Given the description of an element on the screen output the (x, y) to click on. 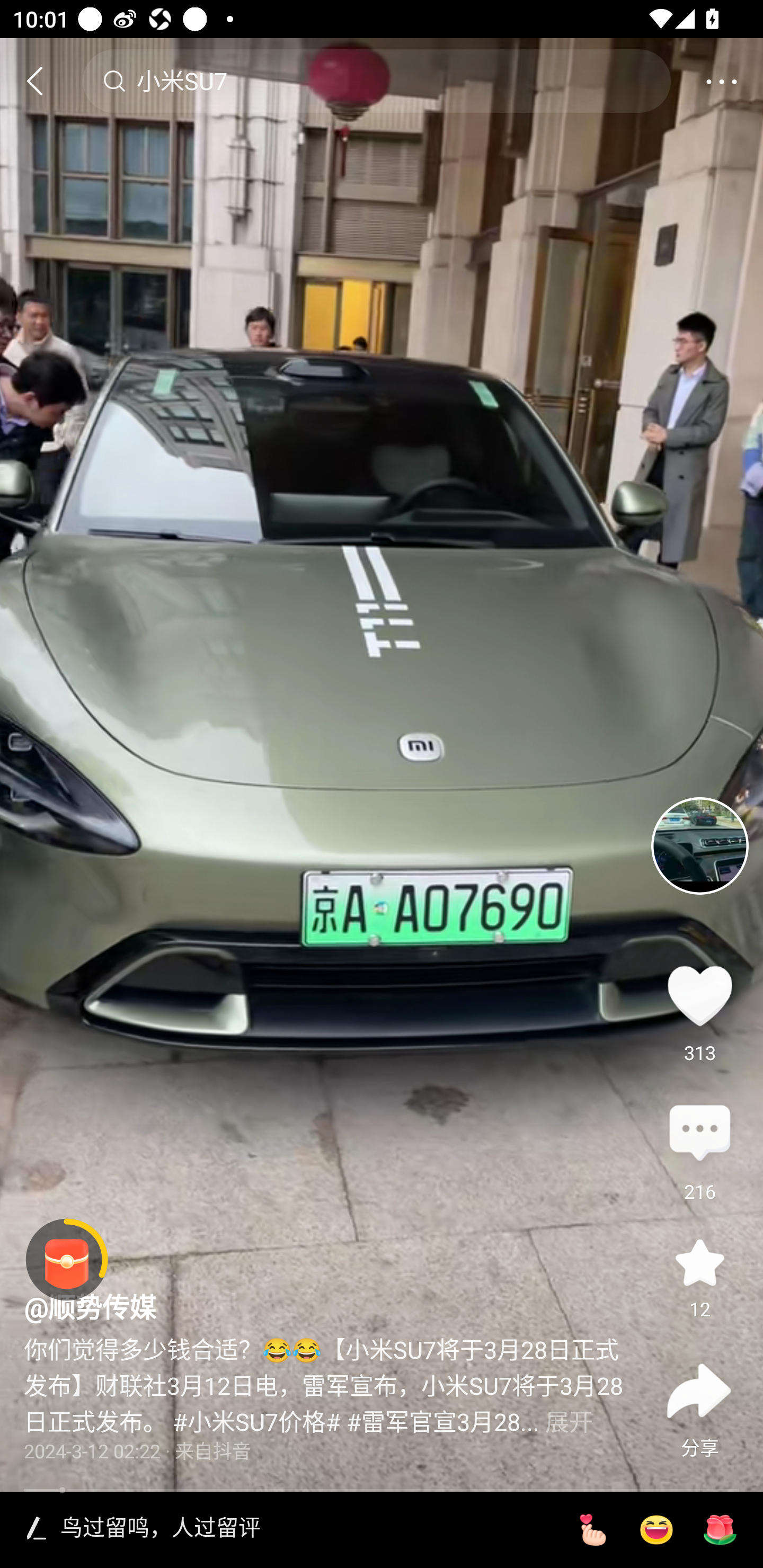
小米SU7 搜索框，小米SU7 (376, 80)
返回 (43, 80)
更多操作 (720, 80)
头像 (699, 845)
点赞313 313 (699, 995)
评论216 评论 216 (699, 1134)
收藏 12 (699, 1262)
阅读赚金币 (66, 1259)
分享 (699, 1390)
鸟过留鸣，人过留评 (305, 1529)
[比心] (592, 1530)
[大笑] (656, 1530)
[玫瑰] (719, 1530)
